Given the description of an element on the screen output the (x, y) to click on. 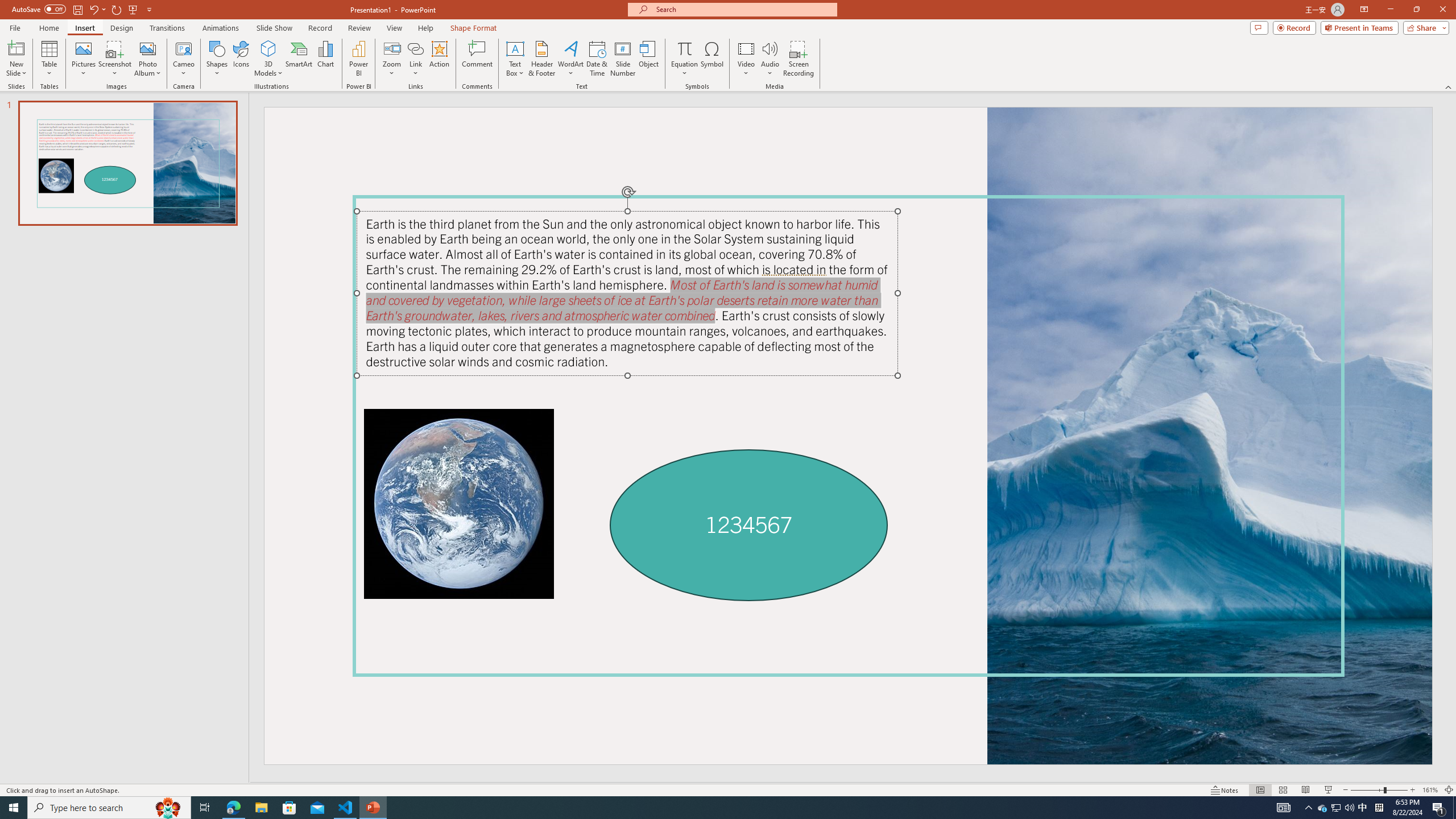
Power BI (358, 58)
Chart... (325, 58)
Photo Album... (147, 58)
Icons (240, 58)
